Given the description of an element on the screen output the (x, y) to click on. 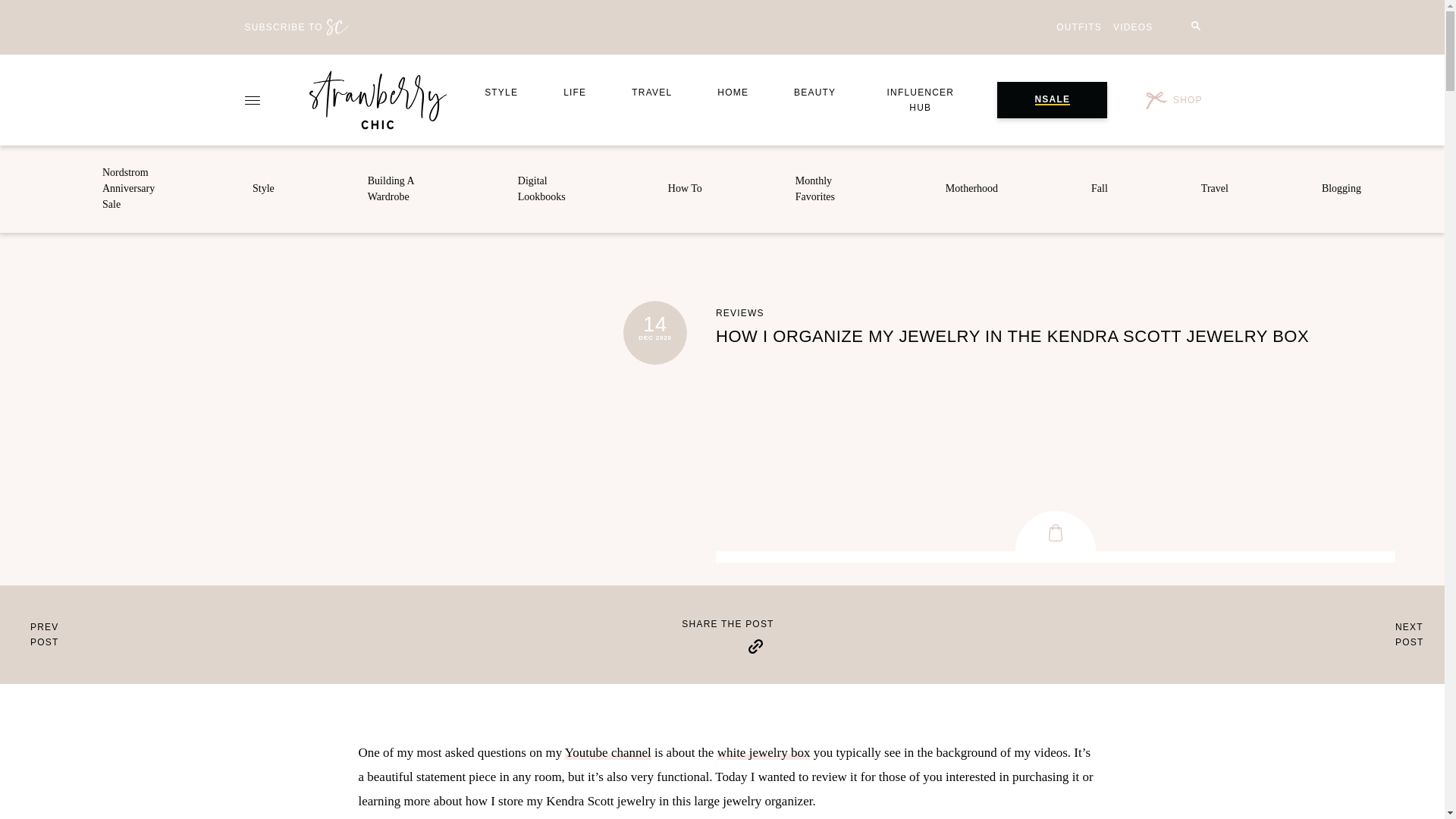
Strawberry Chic Logo (377, 99)
